Given the description of an element on the screen output the (x, y) to click on. 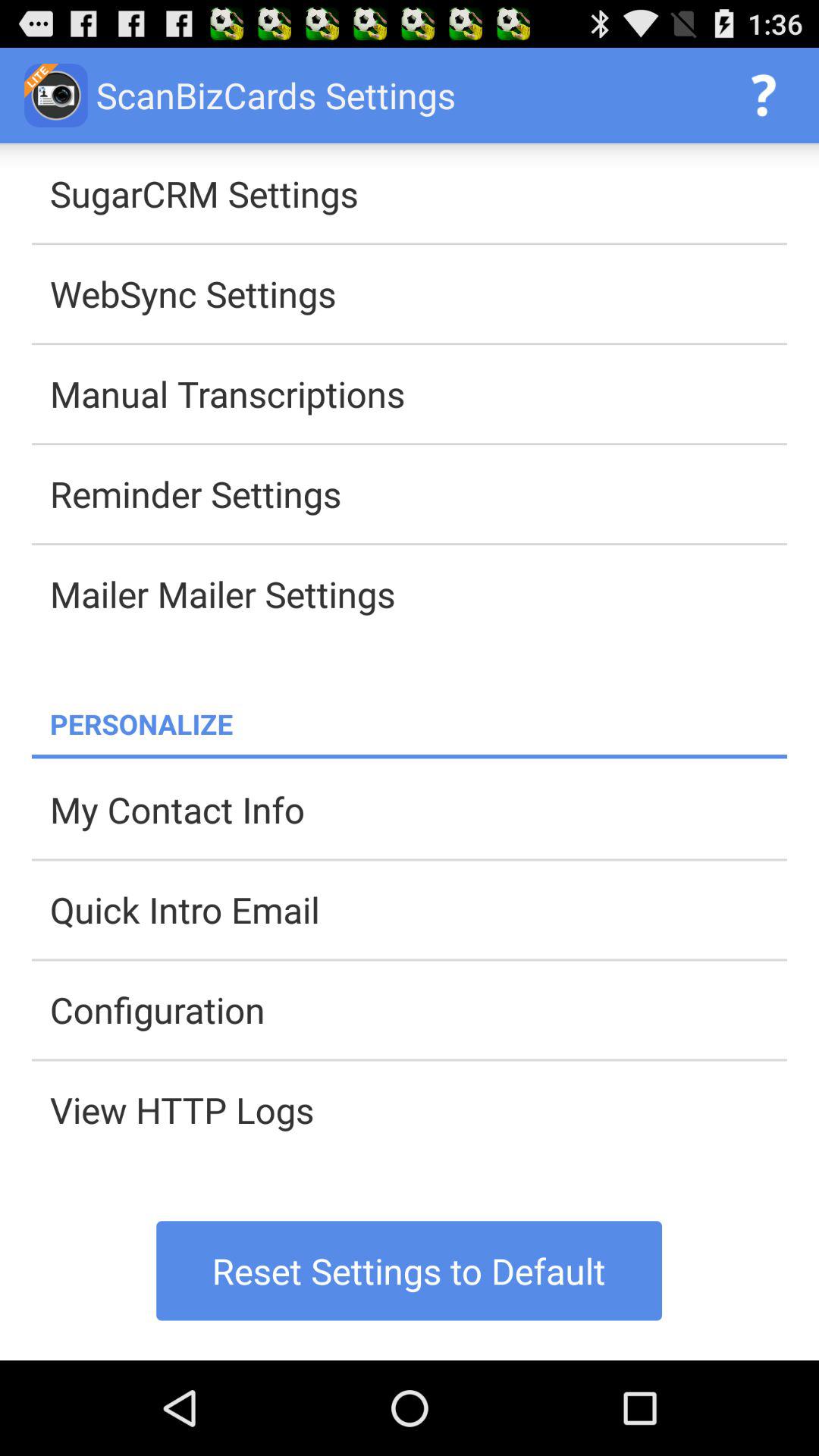
open icon above the view http logs item (418, 1009)
